Given the description of an element on the screen output the (x, y) to click on. 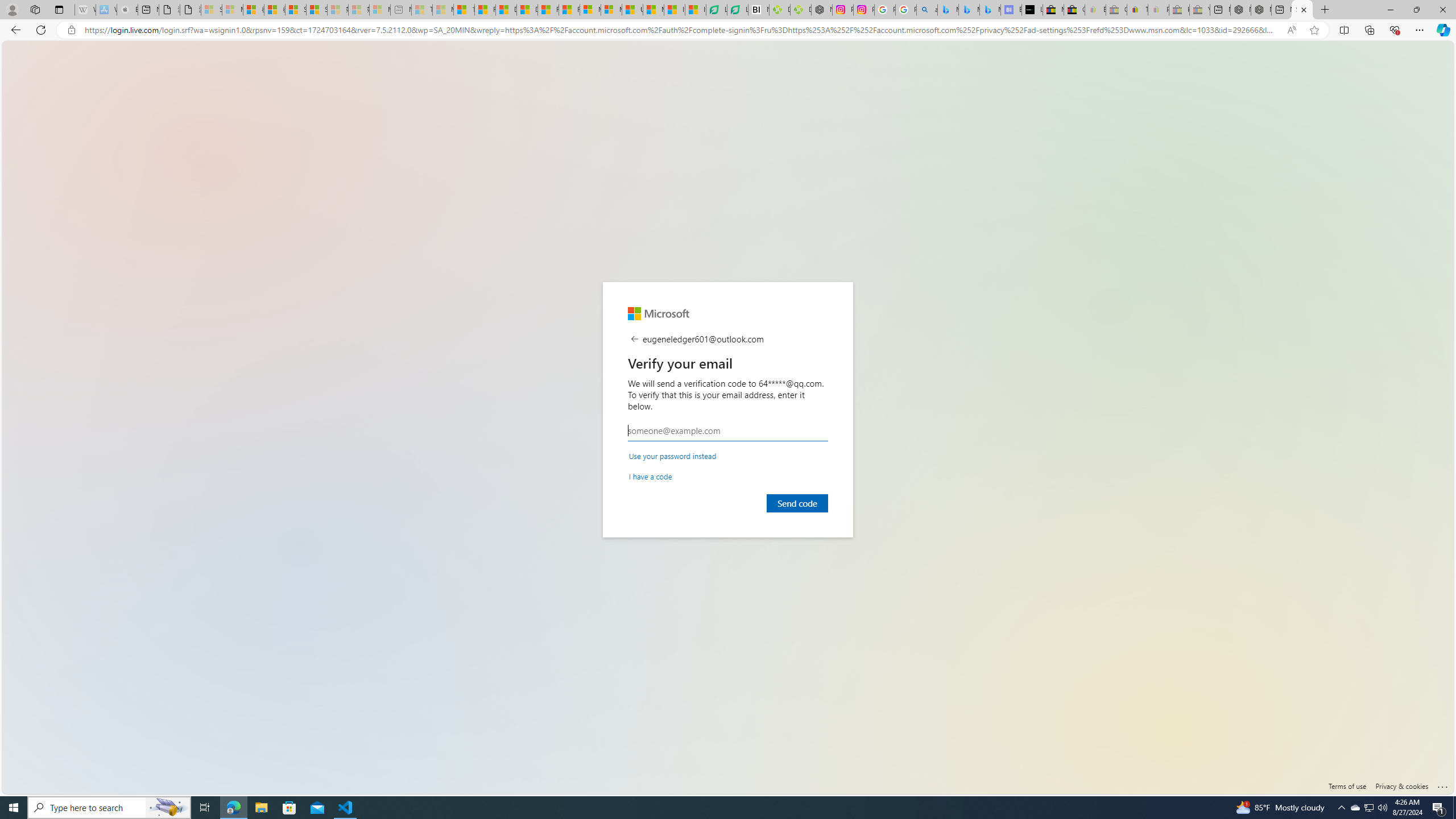
alabama high school quarterback dies - Search (926, 9)
Payments Terms of Use | eBay.com - Sleeping (1157, 9)
Foo BAR | Trusted Community Engagement and Contributions (569, 9)
Buy iPad - Apple - Sleeping (127, 9)
LendingTree - Compare Lenders (737, 9)
